Given the description of an element on the screen output the (x, y) to click on. 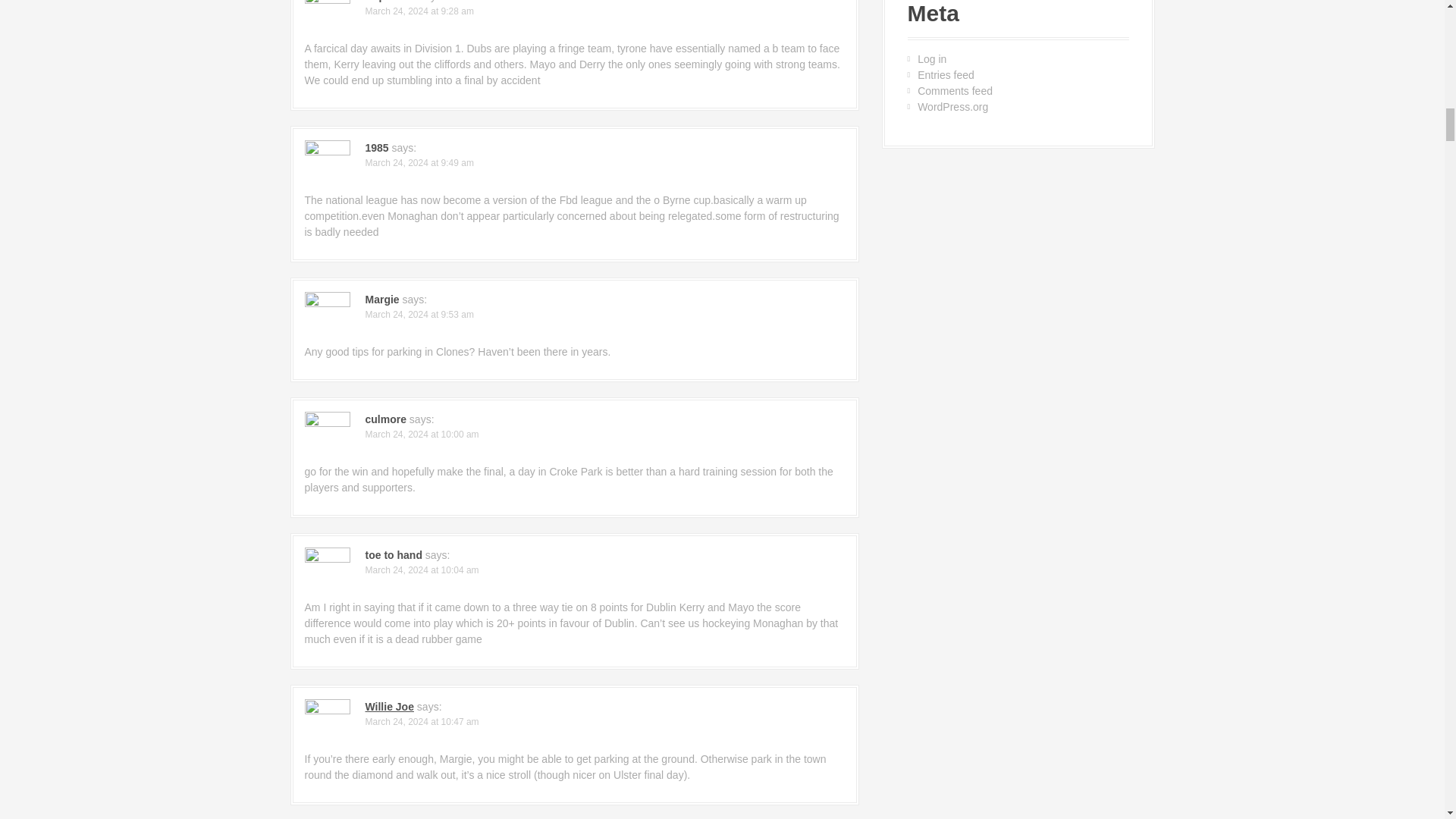
March 24, 2024 at 10:00 am (422, 434)
March 24, 2024 at 9:28 am (419, 10)
March 24, 2024 at 9:53 am (419, 314)
Willie Joe (389, 706)
March 24, 2024 at 9:49 am (419, 163)
March 24, 2024 at 10:47 am (422, 721)
March 24, 2024 at 10:04 am (422, 570)
